Given the description of an element on the screen output the (x, y) to click on. 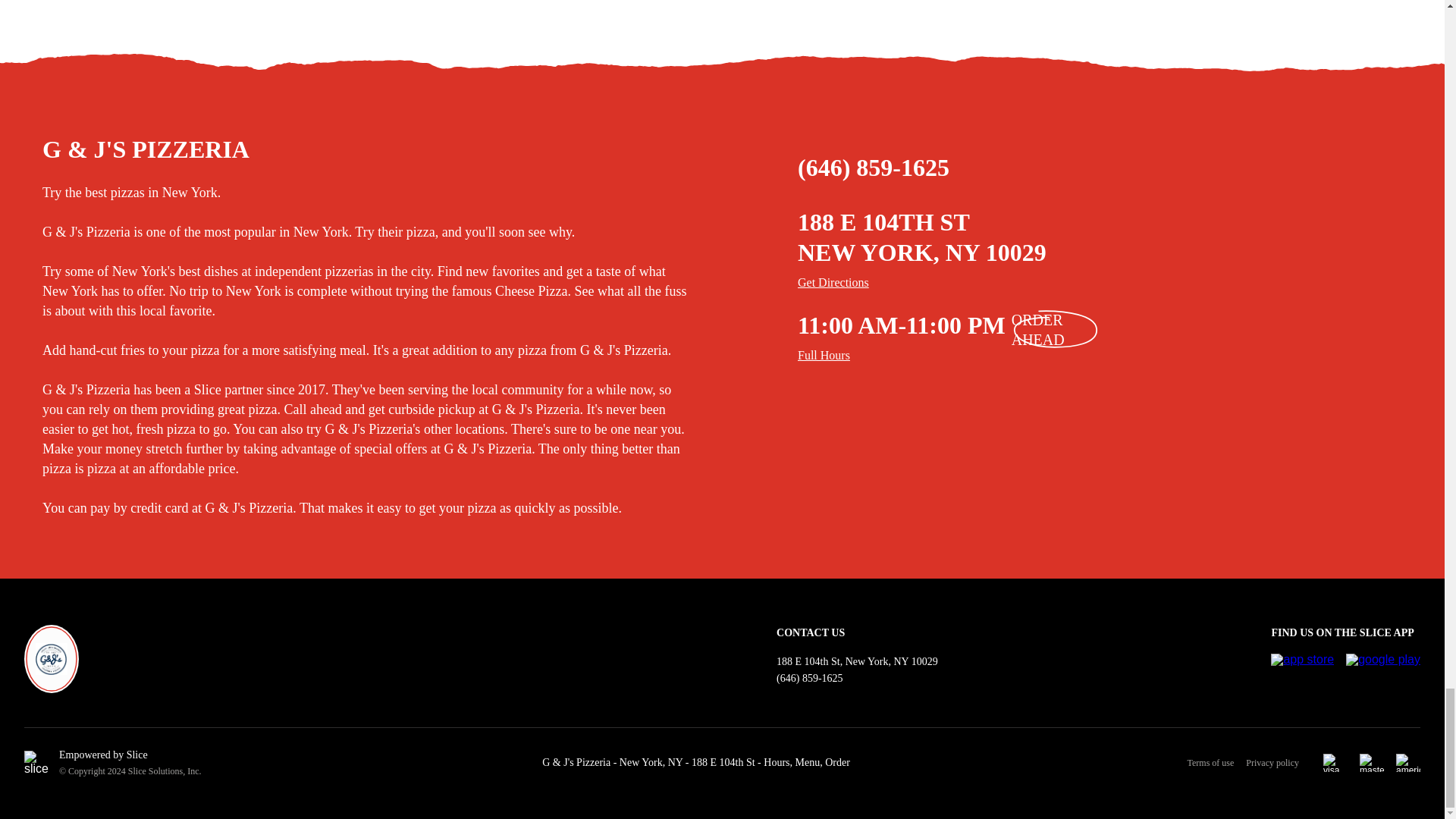
Get Directions (1119, 282)
Terms of use (1217, 762)
Privacy policy (1272, 762)
